Given the description of an element on the screen output the (x, y) to click on. 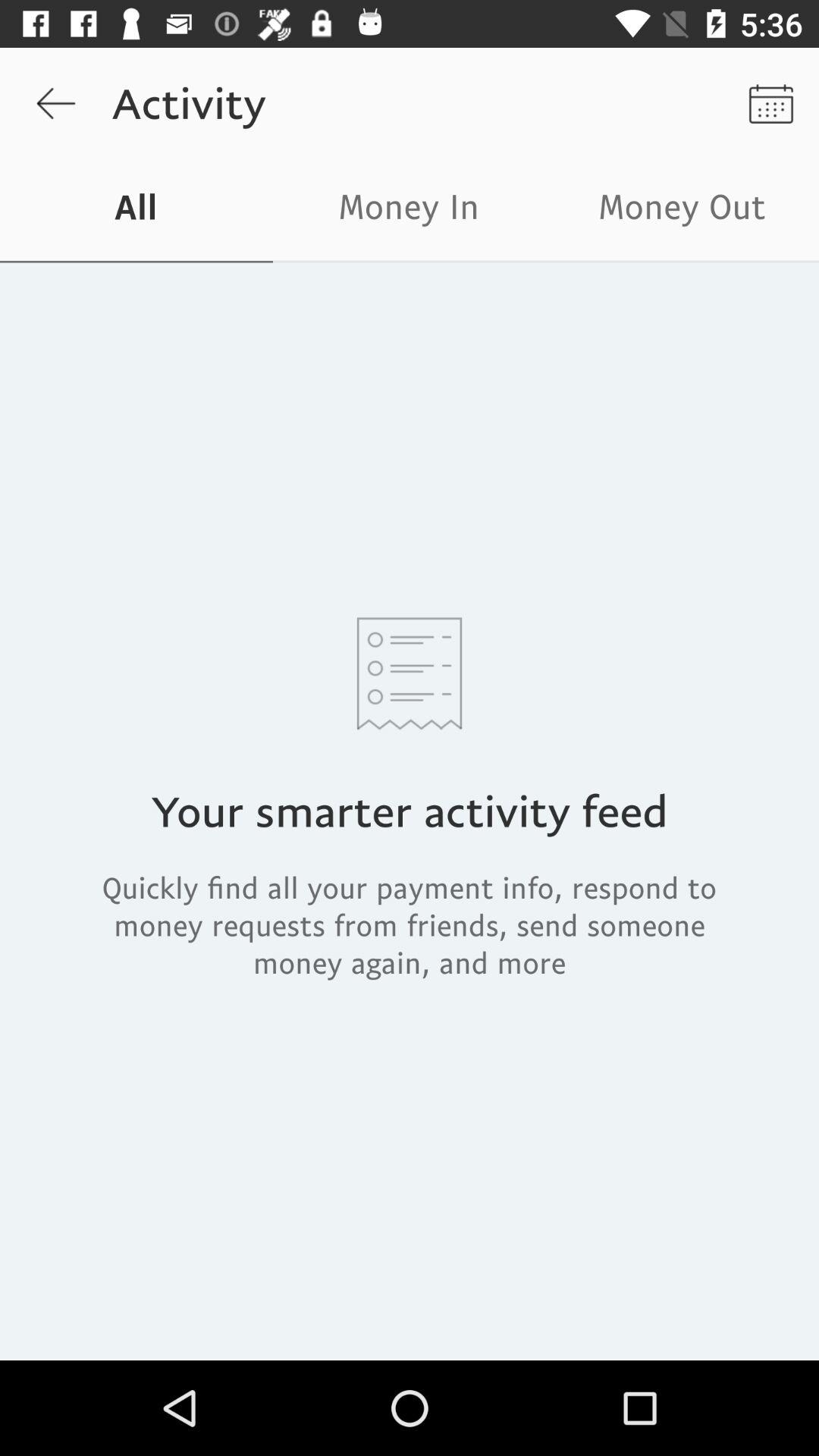
choose icon above all item (55, 103)
